Given the description of an element on the screen output the (x, y) to click on. 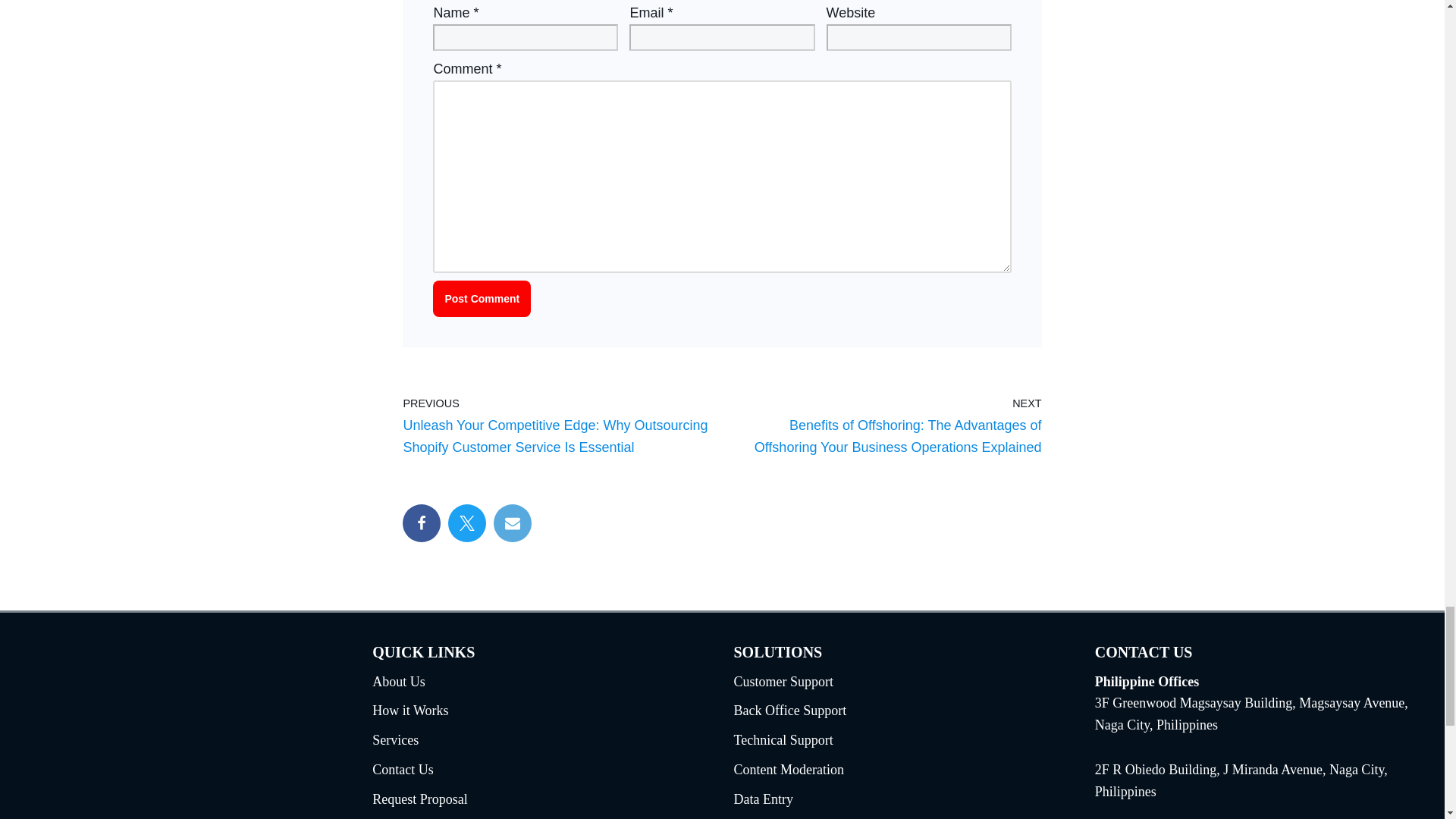
Email (512, 523)
Twitter (467, 523)
Facebook (422, 523)
Post Comment (481, 298)
